Given the description of an element on the screen output the (x, y) to click on. 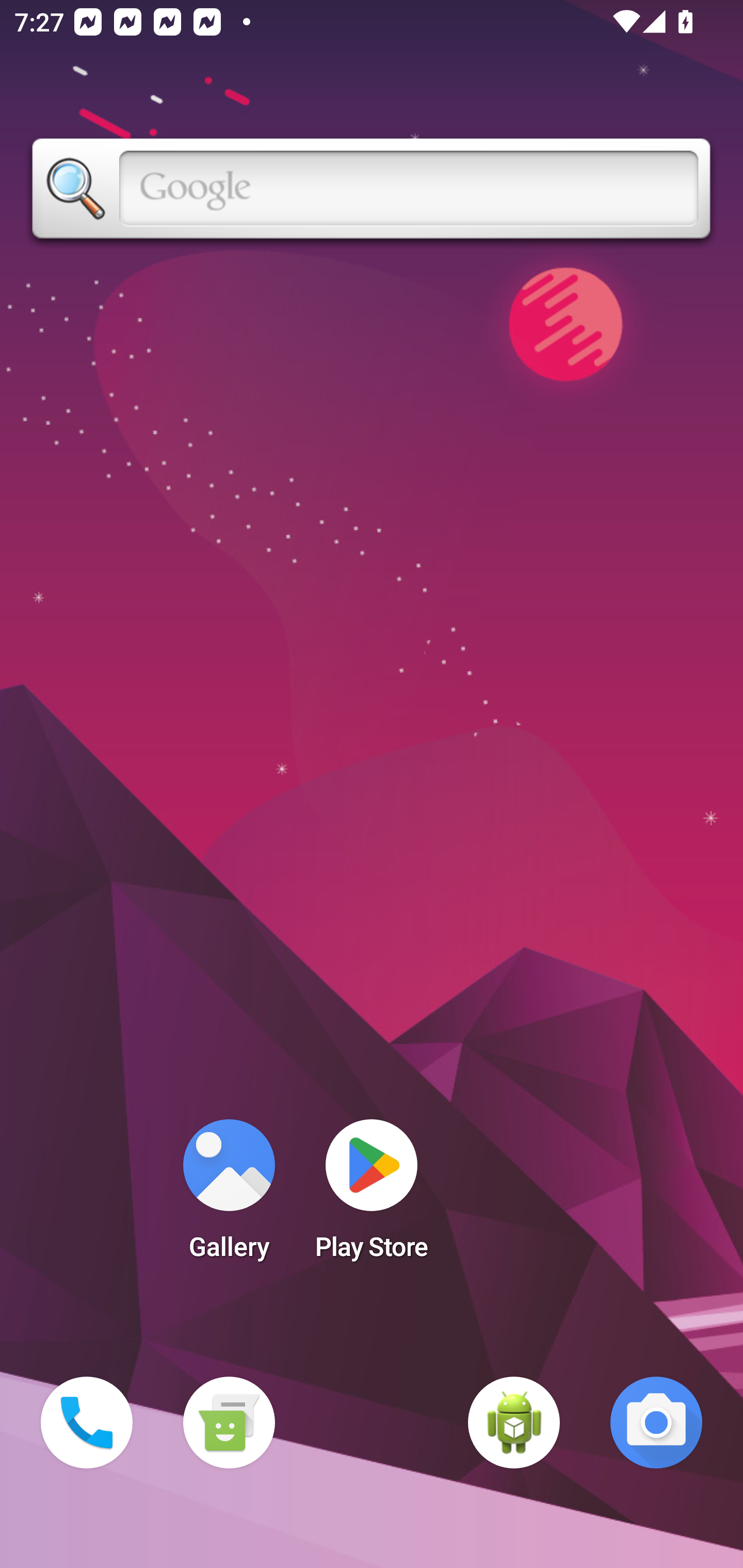
Gallery (228, 1195)
Play Store (371, 1195)
Phone (86, 1422)
Messaging (228, 1422)
WebView Browser Tester (513, 1422)
Camera (656, 1422)
